Given the description of an element on the screen output the (x, y) to click on. 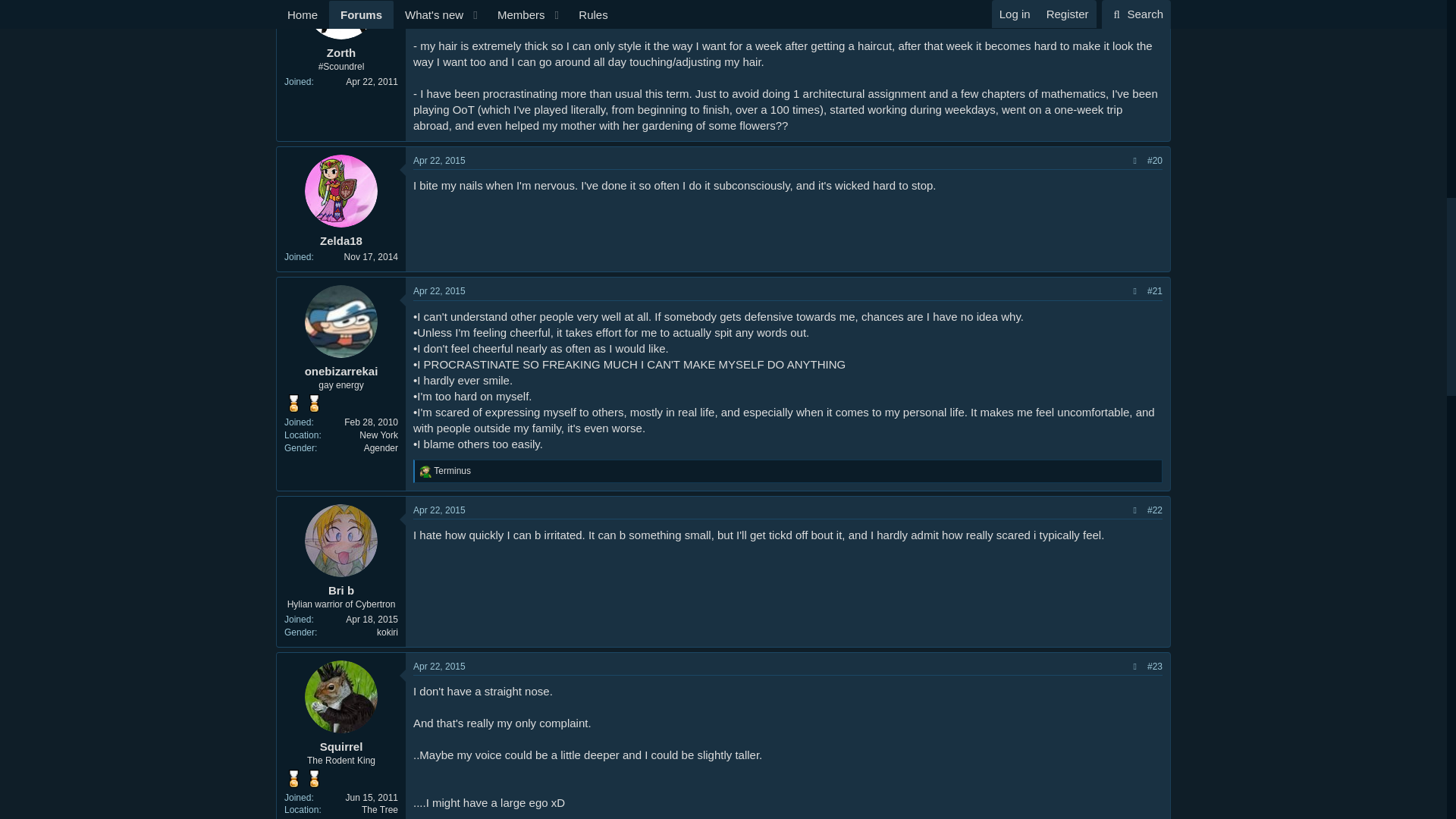
Apr 22, 2015 at 6:05 PM (439, 510)
Apr 22, 2015 at 6:03 PM (439, 160)
Apr 22, 2015 at 6:03 PM (439, 290)
Like (424, 471)
Apr 22, 2015 at 7:56 PM (439, 665)
